Given the description of an element on the screen output the (x, y) to click on. 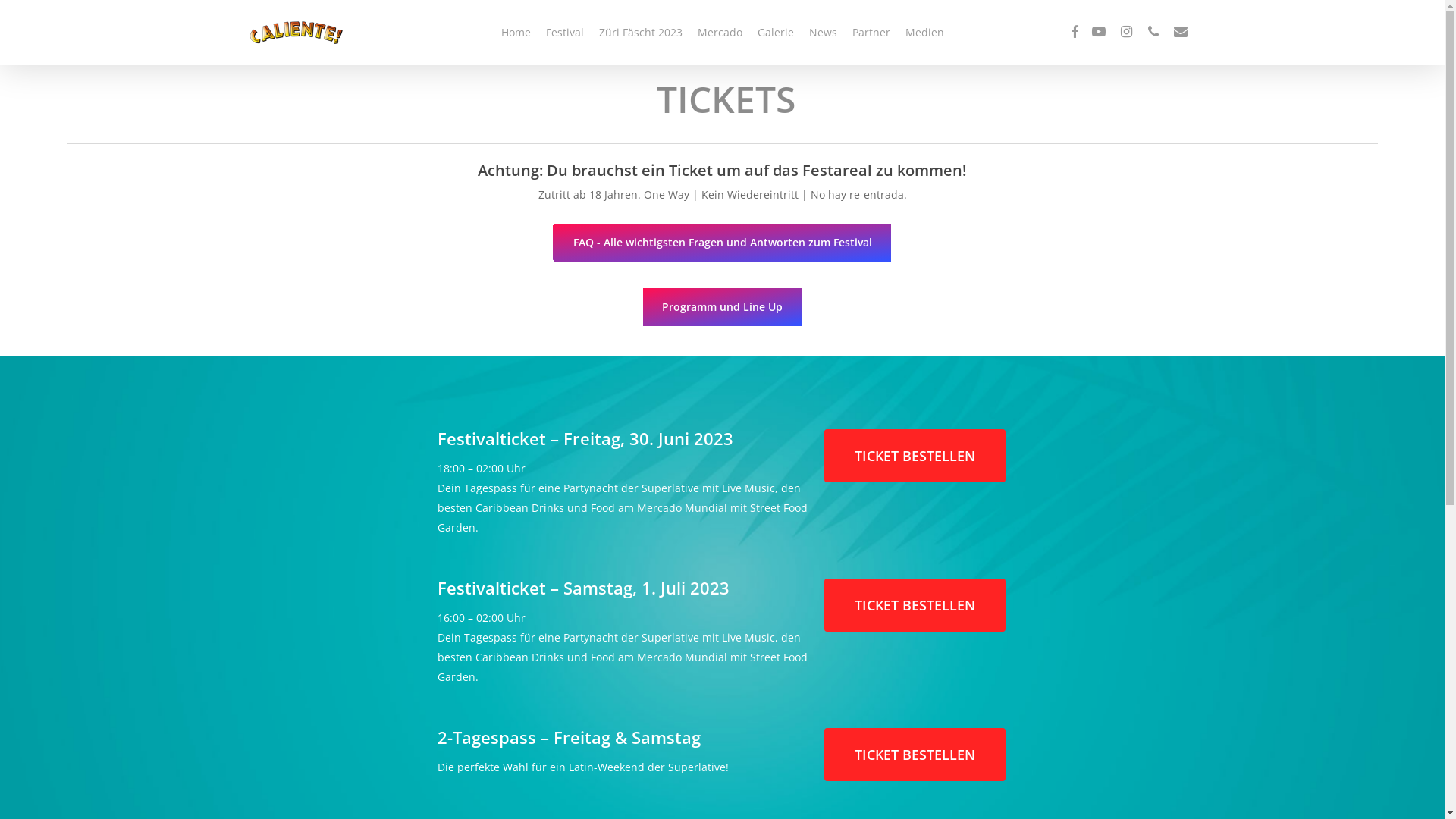
TICKET BESTELLEN Element type: text (914, 455)
Home Element type: text (515, 32)
facebook Element type: text (1074, 32)
phone Element type: text (1153, 32)
TICKET BESTELLEN Element type: text (914, 604)
News Element type: text (822, 32)
youtube Element type: text (1098, 32)
email Element type: text (1180, 32)
Medien Element type: text (924, 32)
Programm und Line Up Element type: text (722, 307)
Galerie Element type: text (774, 32)
Partner Element type: text (871, 32)
FAQ - Alle wichtigsten Fragen und Antworten zum Festival Element type: text (721, 242)
instagram Element type: text (1125, 32)
Festival Element type: text (564, 32)
TICKET BESTELLEN Element type: text (914, 754)
Mercado Element type: text (719, 32)
